Given the description of an element on the screen output the (x, y) to click on. 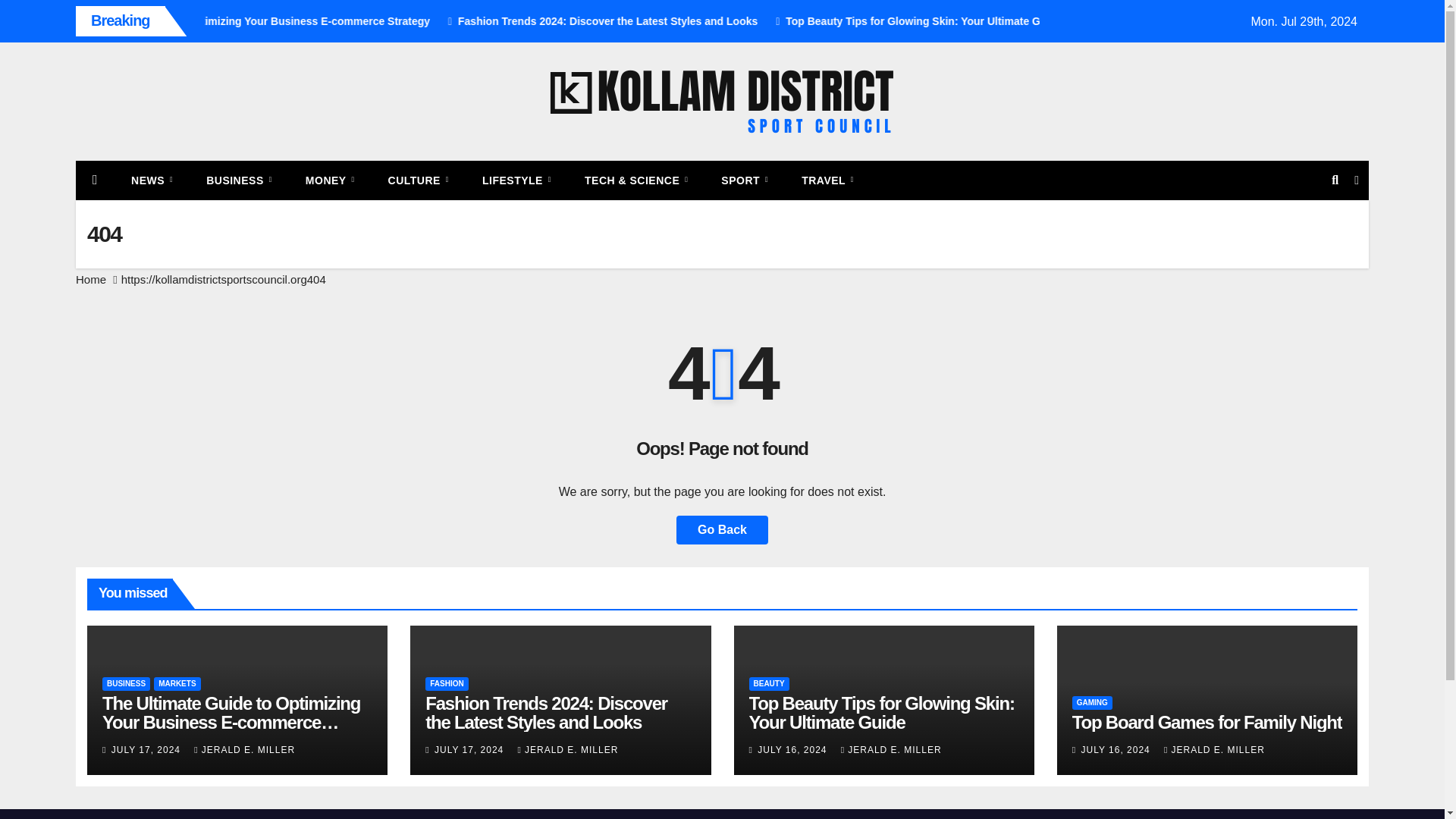
NEWS (152, 179)
News (152, 179)
BUSINESS (238, 179)
Top Beauty Tips for Glowing Skin: Your Ultimate Guide (1059, 21)
Business (238, 179)
MONEY (329, 179)
Fashion Trends 2024: Discover the Latest Styles and Looks (743, 21)
